Given the description of an element on the screen output the (x, y) to click on. 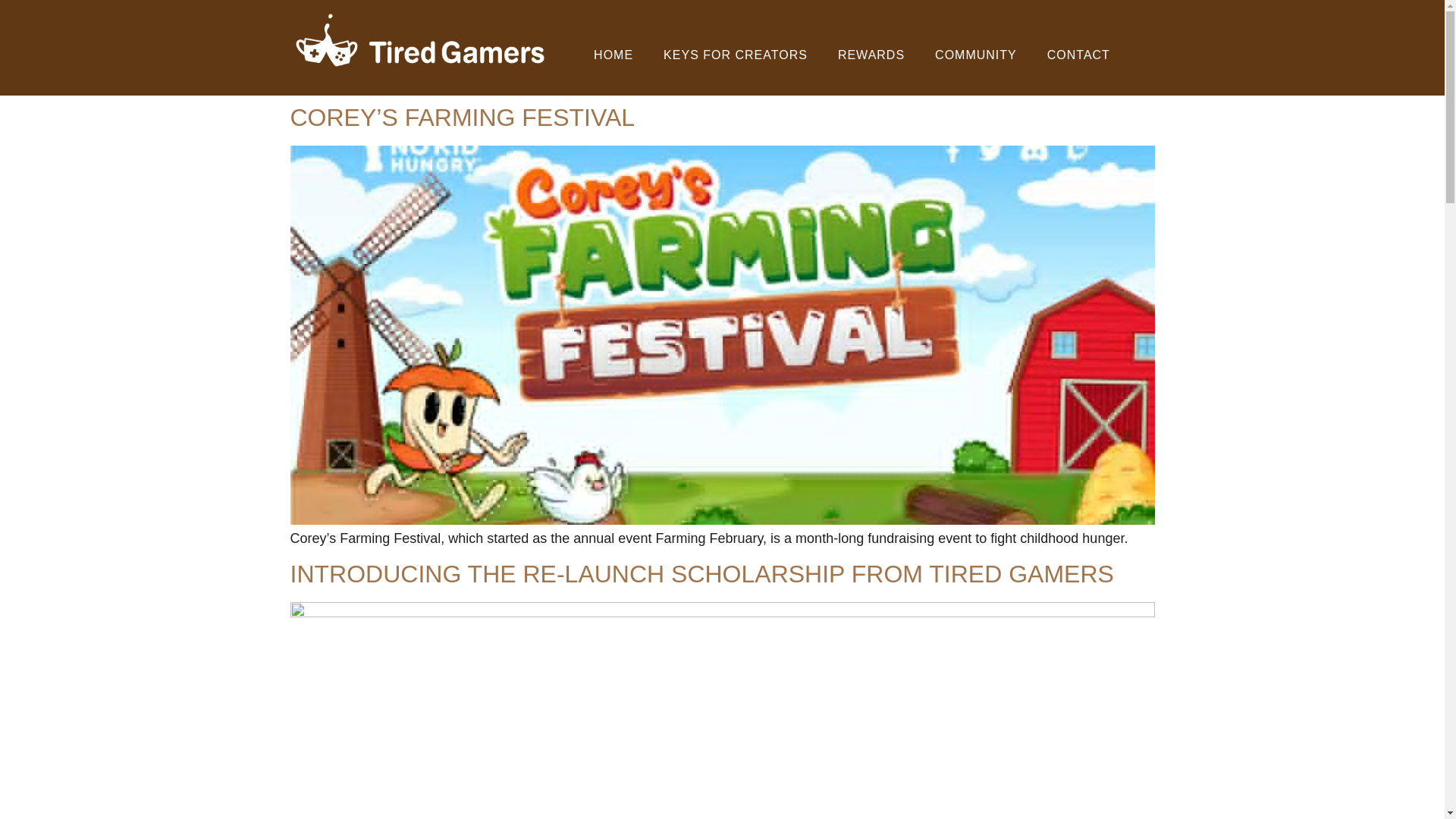
COMMUNITY (976, 54)
HOME (612, 54)
REWARDS (871, 54)
CONTACT (1078, 54)
KEYS FOR CREATORS (734, 54)
INTRODUCING THE RE-LAUNCH SCHOLARSHIP FROM TIRED GAMERS (701, 574)
